Given the description of an element on the screen output the (x, y) to click on. 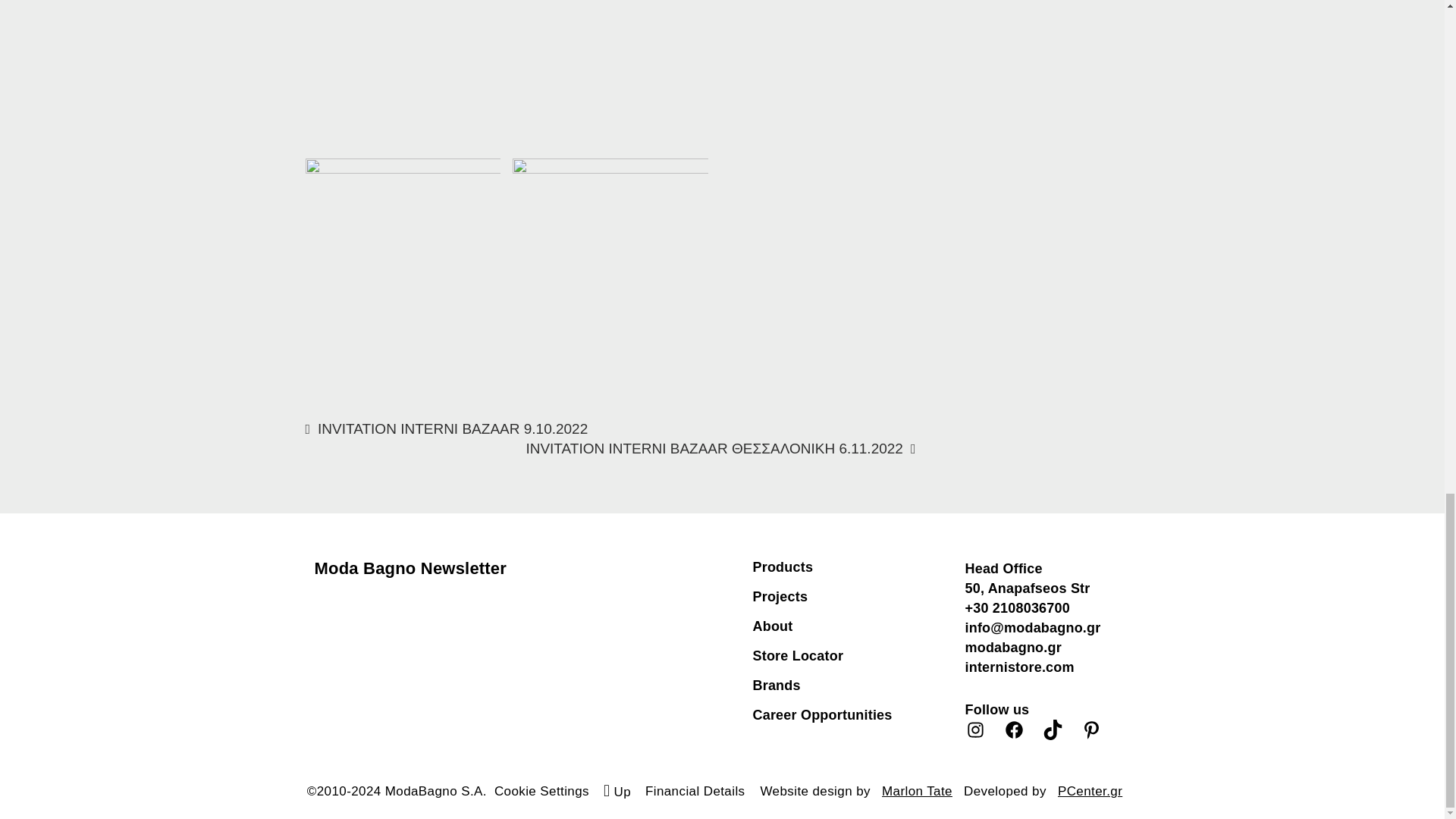
051022-07 (610, 223)
051022-09 (818, 74)
051022-08 (402, 256)
051022-06 (610, 73)
051022-05 (402, 73)
